Given the description of an element on the screen output the (x, y) to click on. 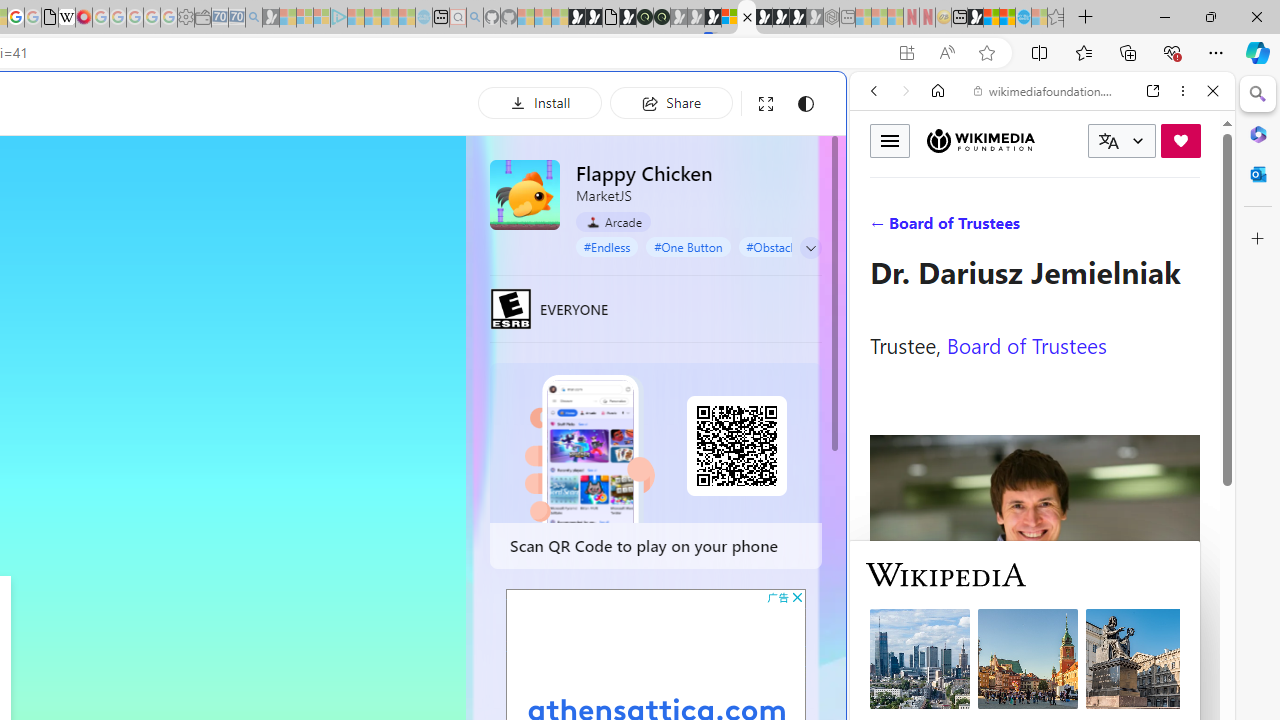
VIDEOS (1006, 228)
Home (938, 91)
Open link in new tab (1153, 91)
Read aloud this page (Ctrl+Shift+U) (946, 53)
Play Cave FRVR in your browser | Games from Microsoft Start (343, 426)
#Obstacle Course (792, 246)
Play Zoo Boom in your browser | Games from Microsoft Start (593, 17)
EVERYONE (511, 308)
Cheap Car Rentals - Save70.com - Sleeping (236, 17)
New Tab (1085, 17)
Settings and more (Alt+F) (1215, 52)
